Given the description of an element on the screen output the (x, y) to click on. 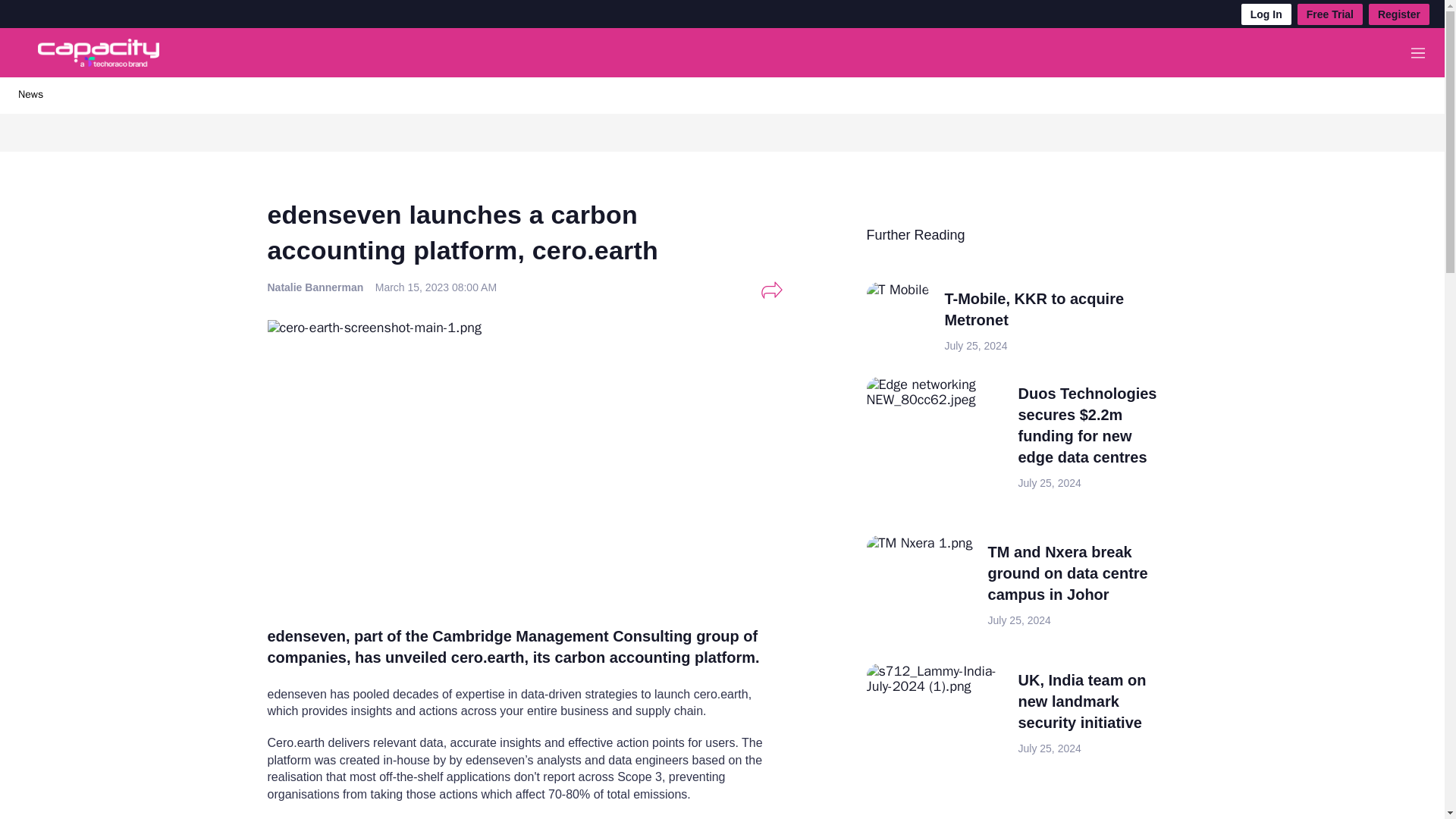
Share (771, 290)
Free Trial (1329, 13)
Register (1398, 13)
Log In (1266, 13)
